Given the description of an element on the screen output the (x, y) to click on. 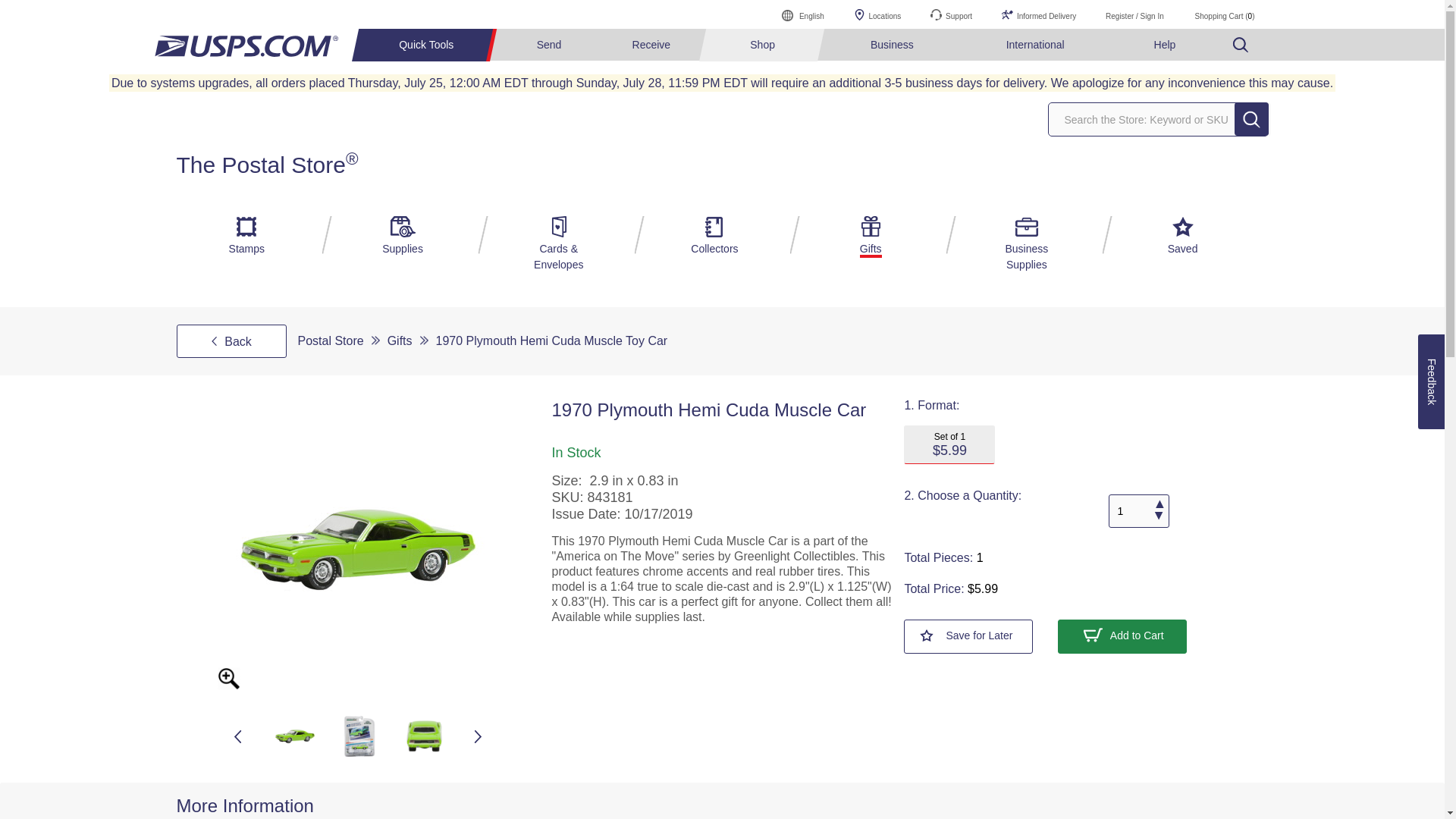
Search (1251, 118)
English (803, 14)
1970 Plymouth Hemi Cuda Muscle Toy Car (356, 549)
Quick Tools (427, 44)
Informed Delivery (1038, 14)
Locations (877, 14)
Send (548, 44)
1 (1138, 510)
Search the Store: Keyword or SKU (1160, 119)
Support (951, 14)
